Given the description of an element on the screen output the (x, y) to click on. 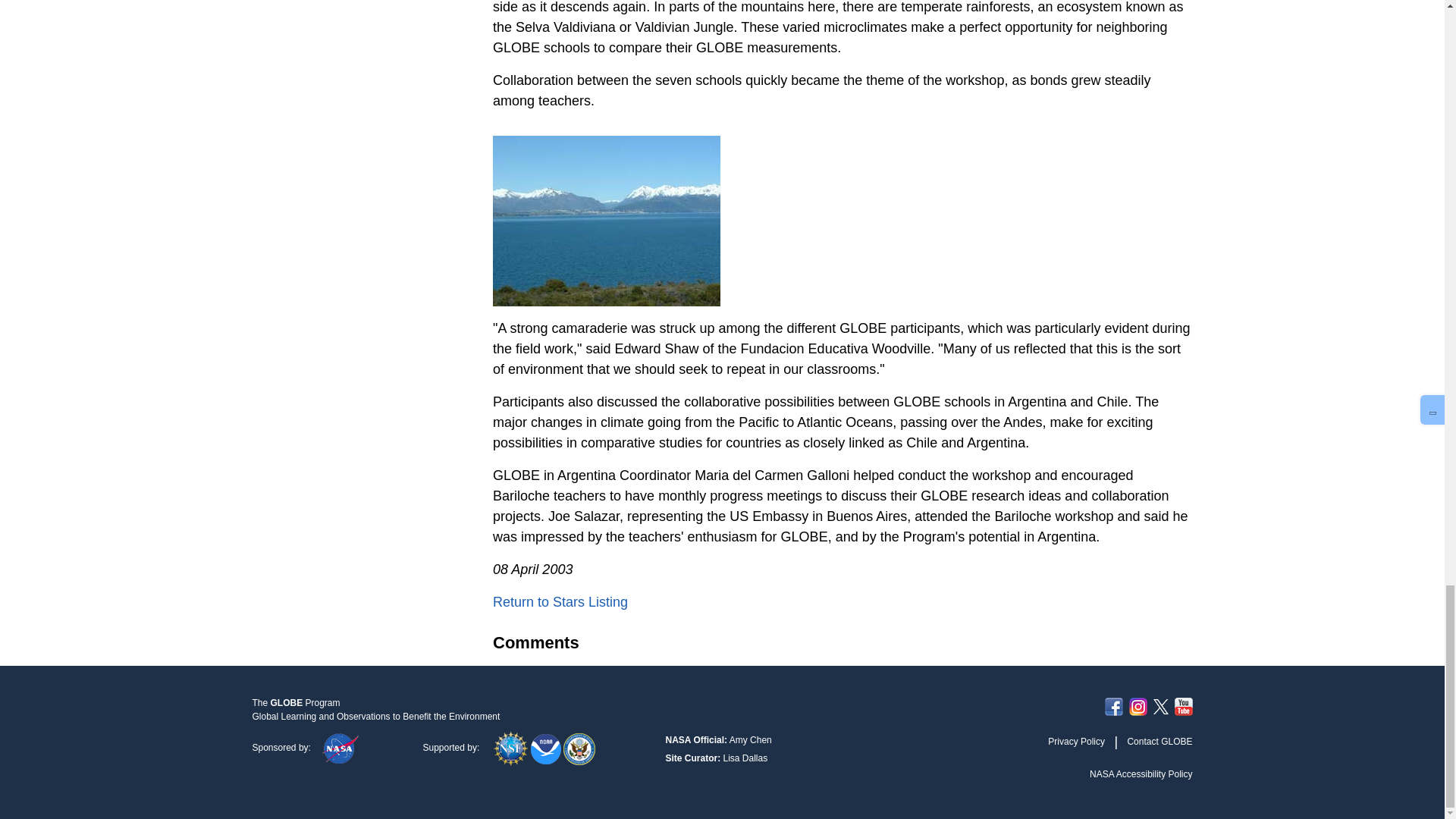
National Science Foundation (512, 747)
U.S. Department of State (579, 747)
National Oceanic and Atmospheric Administration (547, 747)
National Aeronautics and Space Administration (339, 747)
